Given the description of an element on the screen output the (x, y) to click on. 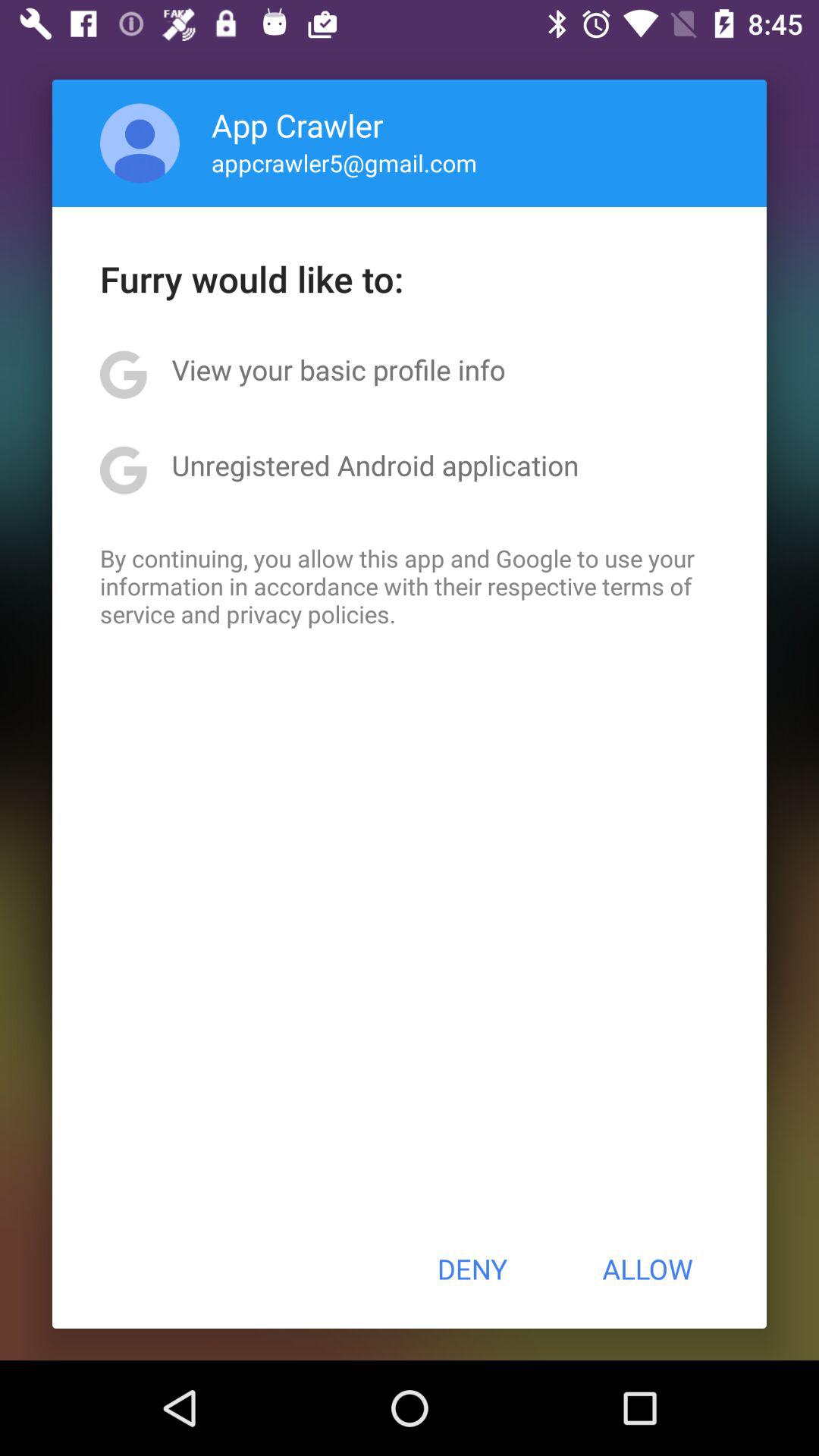
choose item above the furry would like app (139, 143)
